Given the description of an element on the screen output the (x, y) to click on. 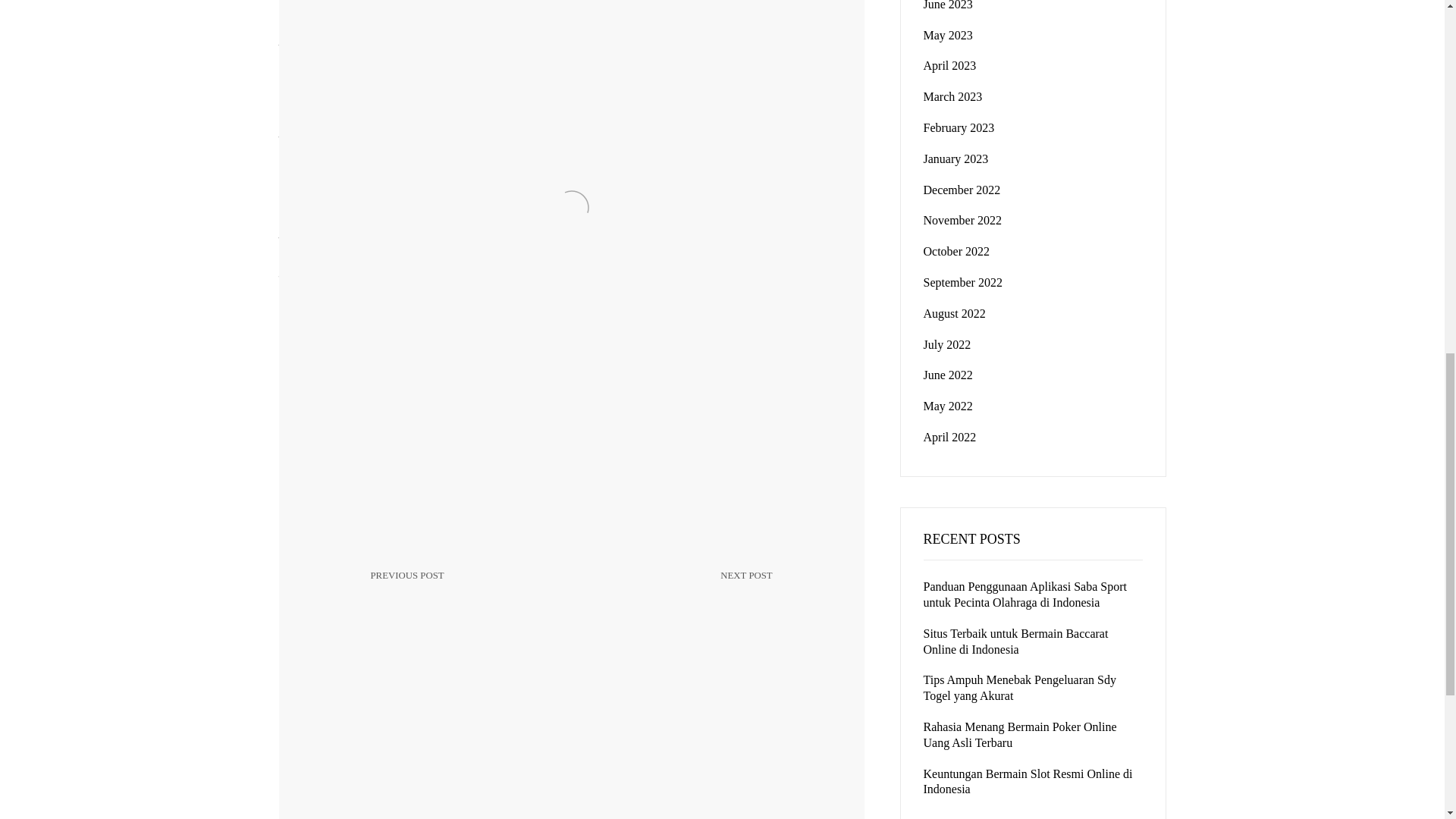
February 2023 (958, 127)
December 2022 (962, 189)
May 2023 (462, 596)
October 2022 (947, 34)
January 2023 (956, 250)
June 2023 (955, 158)
November 2022 (947, 5)
September 2022 (680, 587)
March 2023 (963, 219)
April 2023 (963, 282)
